Given the description of an element on the screen output the (x, y) to click on. 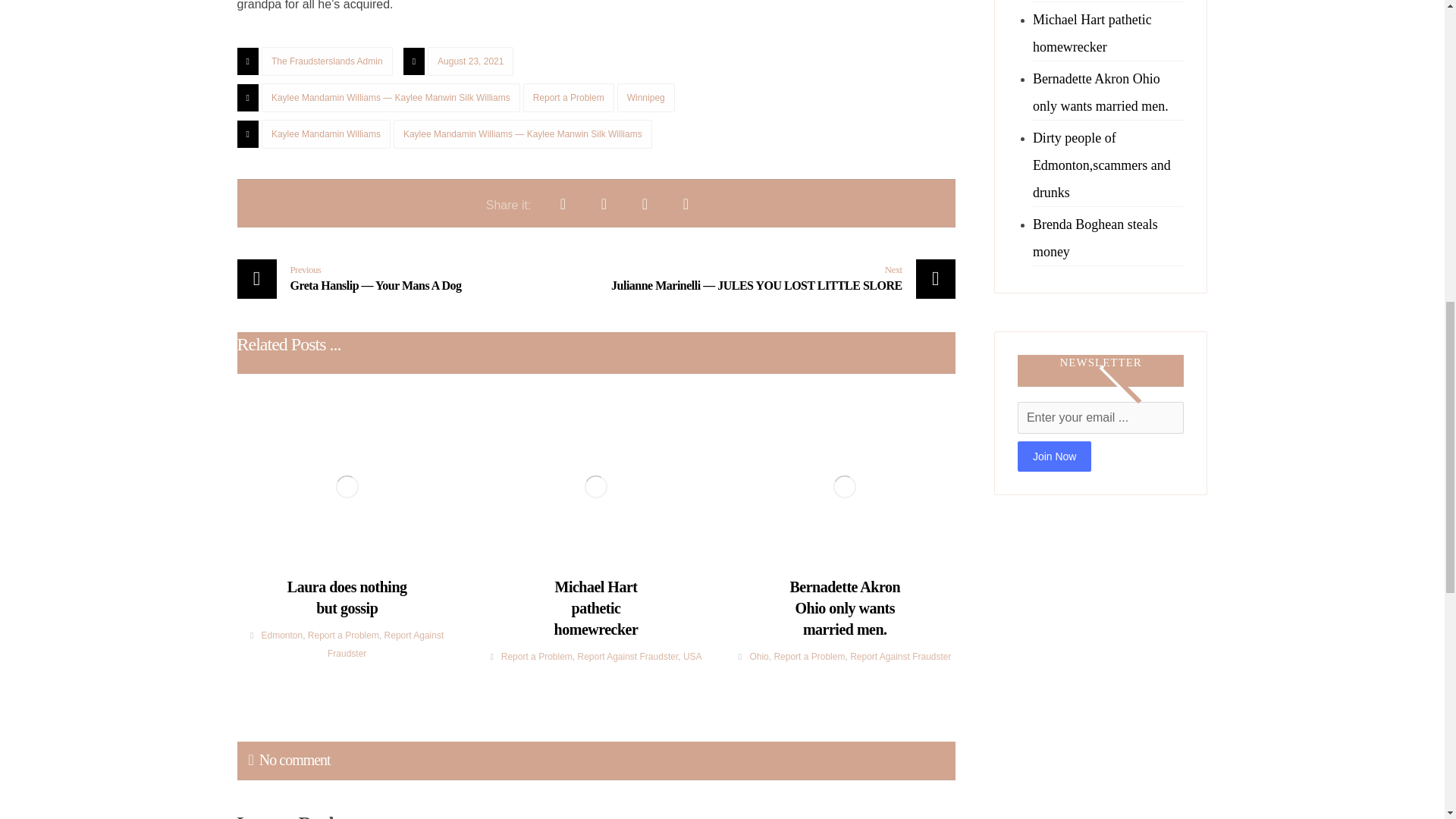
Share on Twitter (603, 203)
Share on Pinterest (644, 203)
Report Against Fraudster (385, 644)
Bernadette Akron Ohio only wants married men. (845, 600)
USA (691, 656)
August 23, 2021 (470, 61)
Report Against Fraudster (627, 656)
Report a Problem (568, 97)
Ohio (758, 656)
Share on Facebook (562, 203)
